Given the description of an element on the screen output the (x, y) to click on. 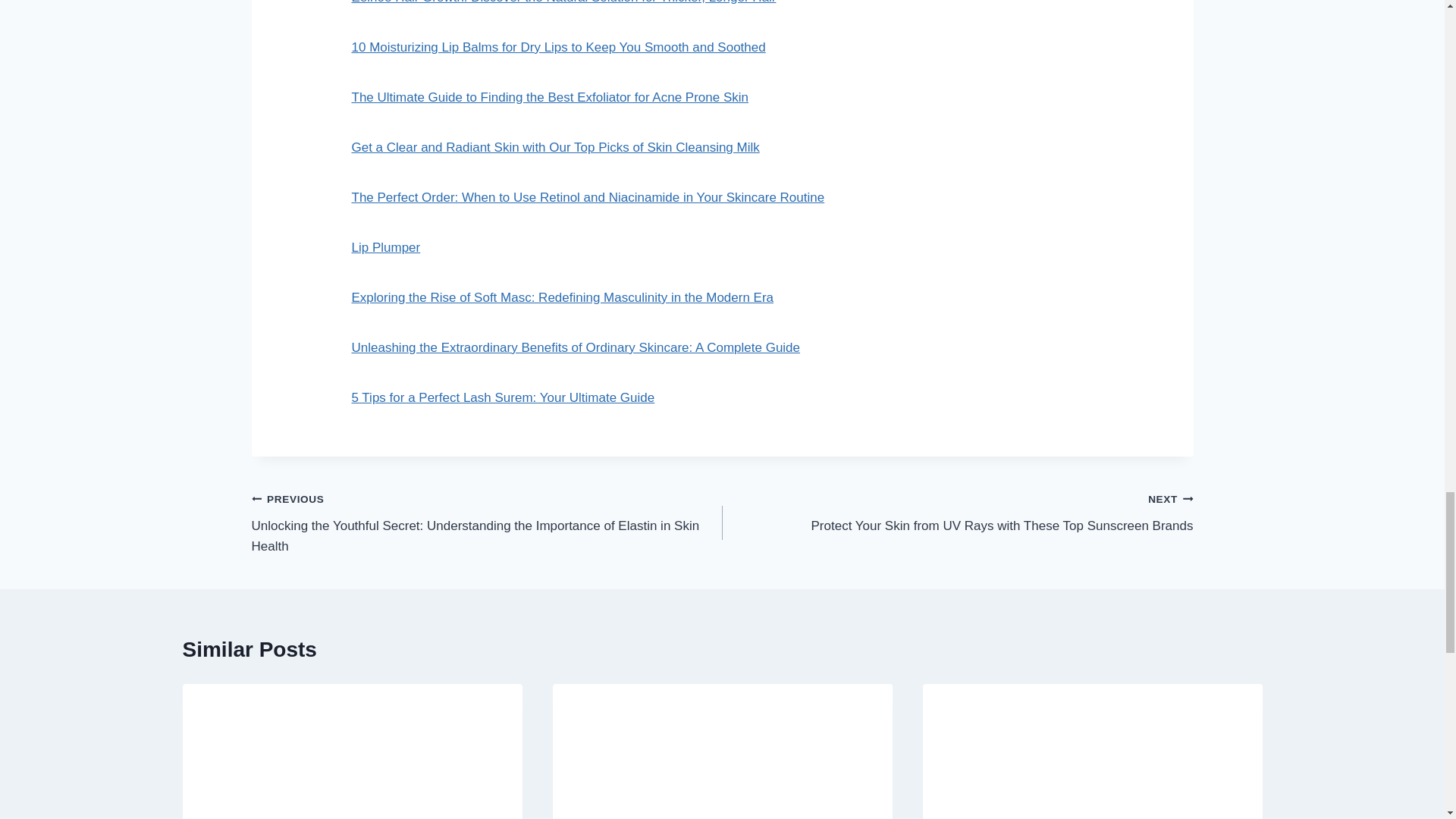
5 Tips for a Perfect Lash Surem: Your Ultimate Guide (503, 397)
Lip Plumper (386, 247)
